Given the description of an element on the screen output the (x, y) to click on. 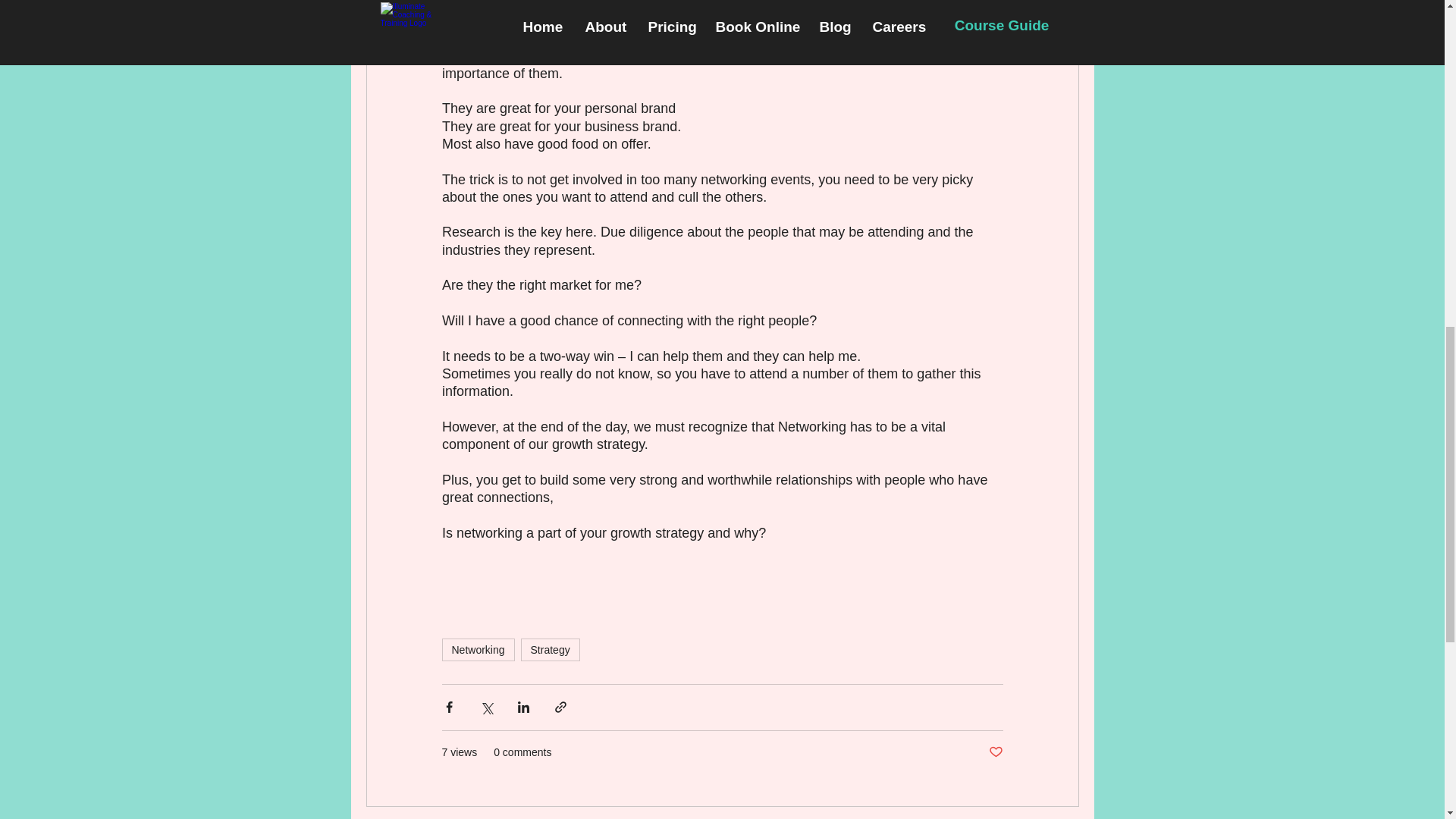
Networking (477, 649)
Strategy (550, 649)
Post not marked as liked (995, 752)
